Given the description of an element on the screen output the (x, y) to click on. 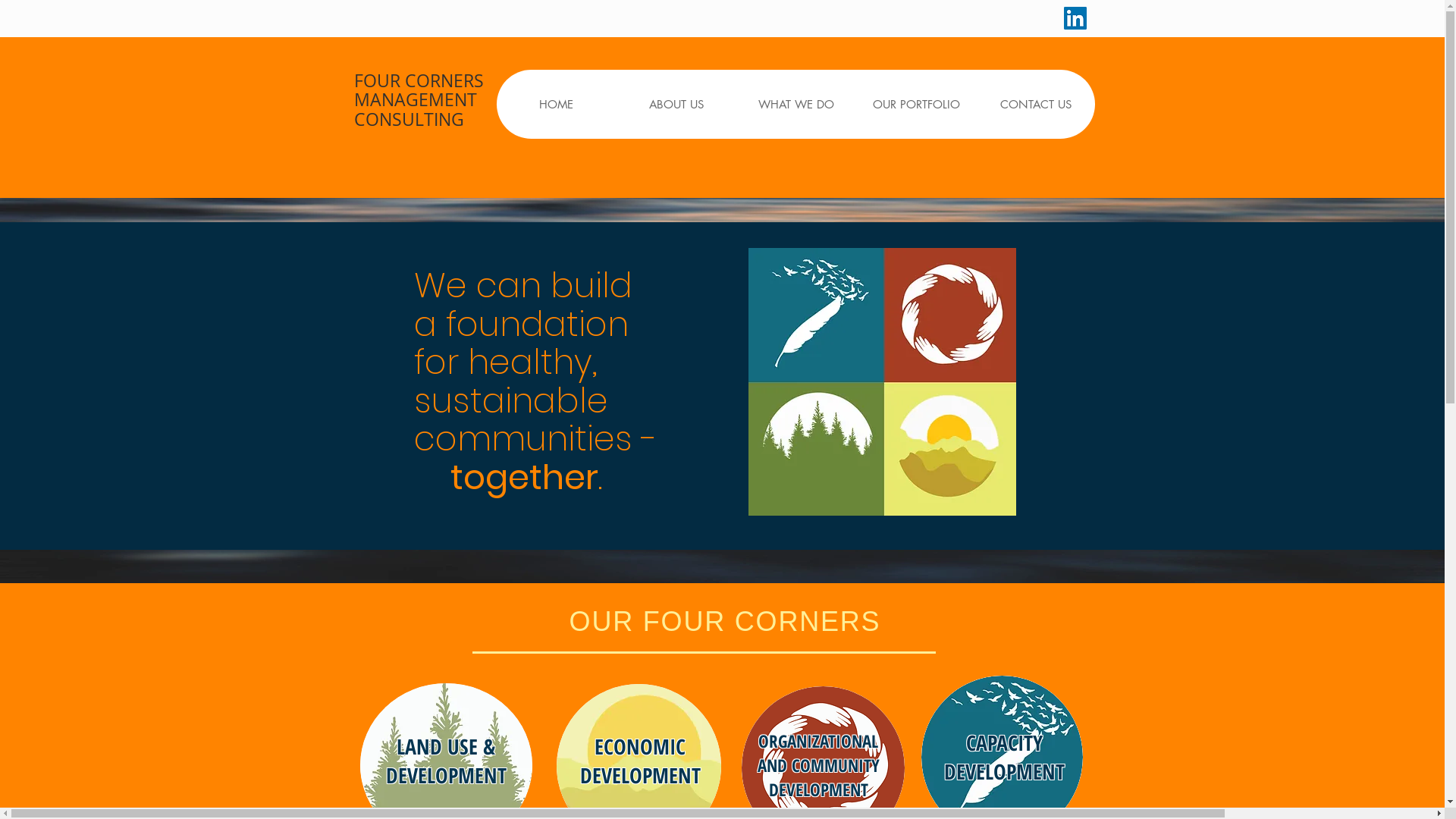
HOME Element type: text (555, 103)
OUR PORTFOLIO Element type: text (915, 103)
CONTACT US Element type: text (1034, 103)
ABOUT US Element type: text (675, 103)
FOUR CORNERS Element type: text (418, 80)
WHAT WE DO Element type: text (795, 103)
